Given the description of an element on the screen output the (x, y) to click on. 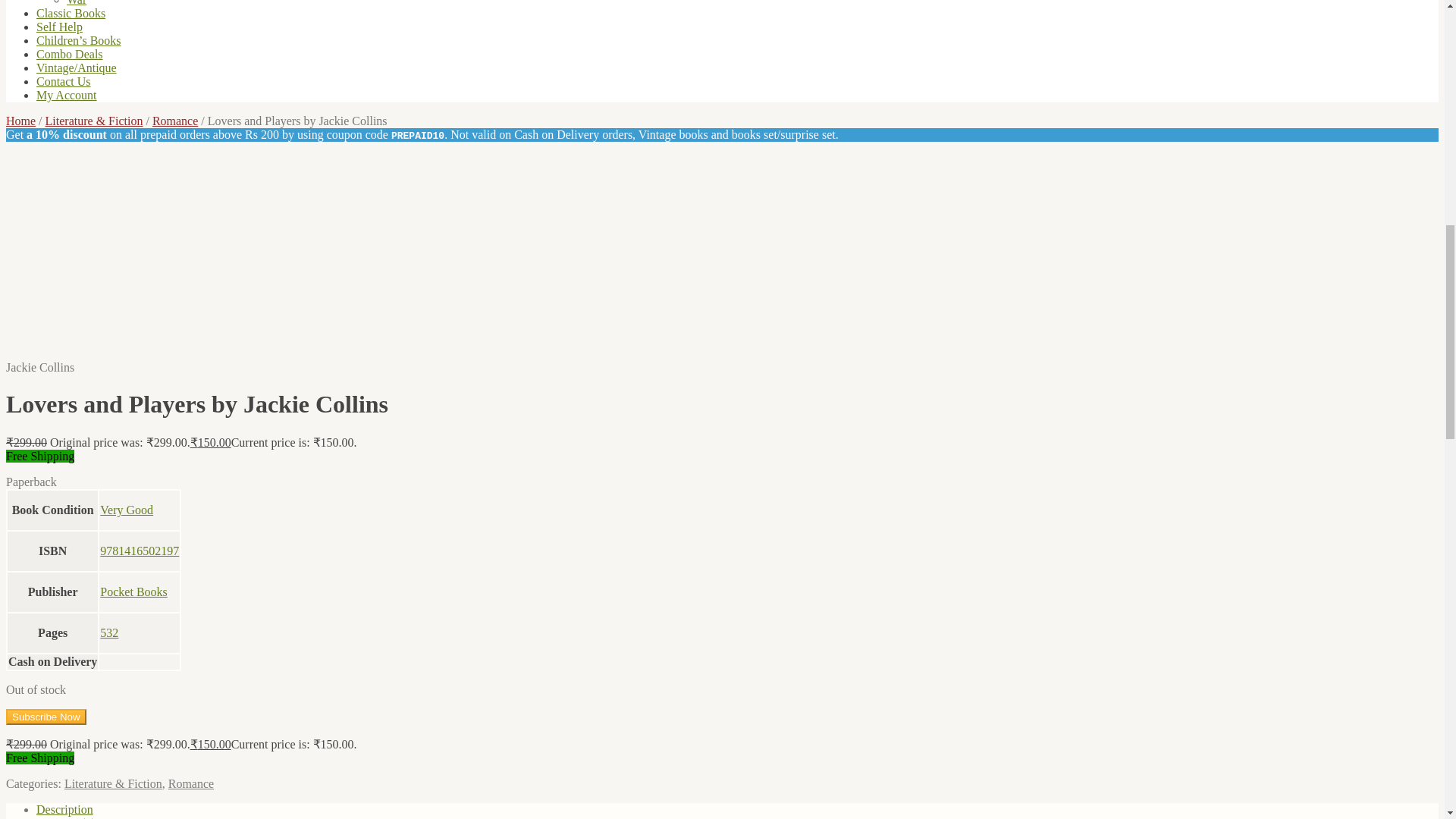
Subscribe Now (45, 716)
